Given the description of an element on the screen output the (x, y) to click on. 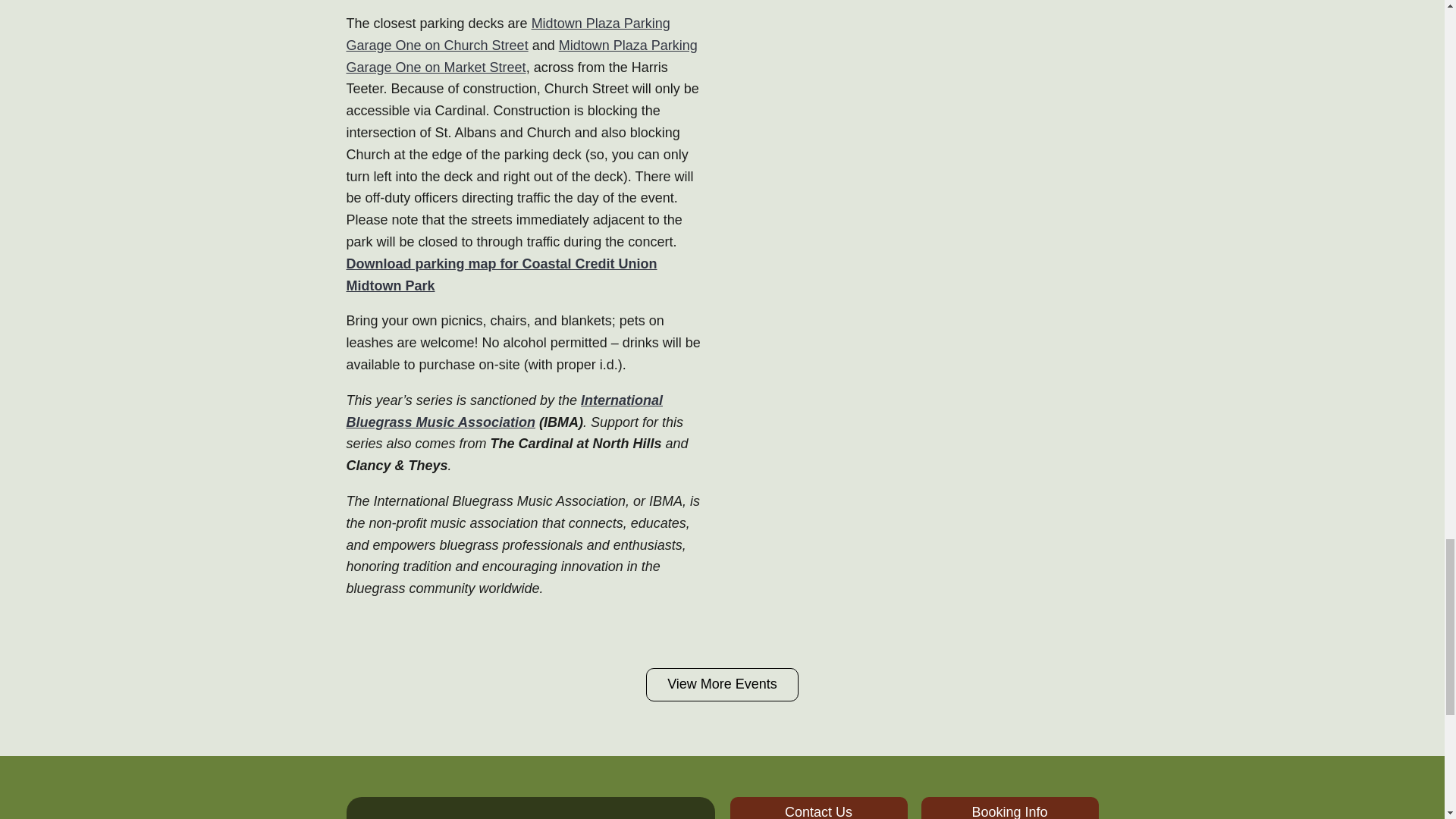
Midtown Plaza Parking Garage One on Church Street (507, 34)
